Given the description of an element on the screen output the (x, y) to click on. 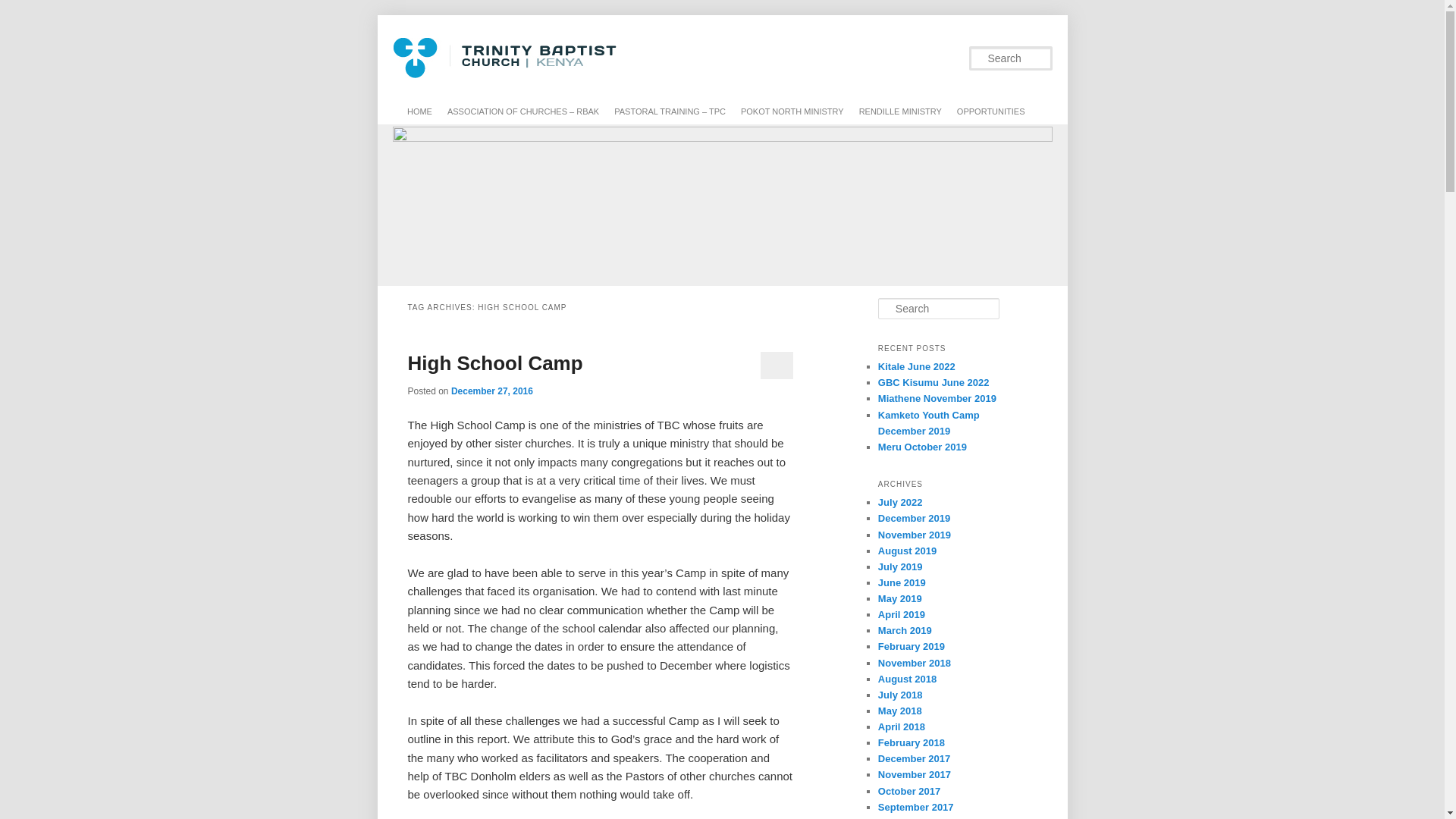
SKIP TO SECONDARY CONTENT (480, 111)
Trinity Baptist Church (560, 155)
Trinity Baptist Church (560, 155)
Skip to primary content (472, 111)
8:57 pm (491, 390)
RENDILLE MINISTRY (900, 111)
SKIP TO PRIMARY CONTENT (472, 111)
Permalink to High School Camp (495, 363)
POKOT NORTH MINISTRY (792, 111)
HOME (418, 111)
Skip to secondary content (480, 111)
Trinity Baptist Church (506, 91)
